Given the description of an element on the screen output the (x, y) to click on. 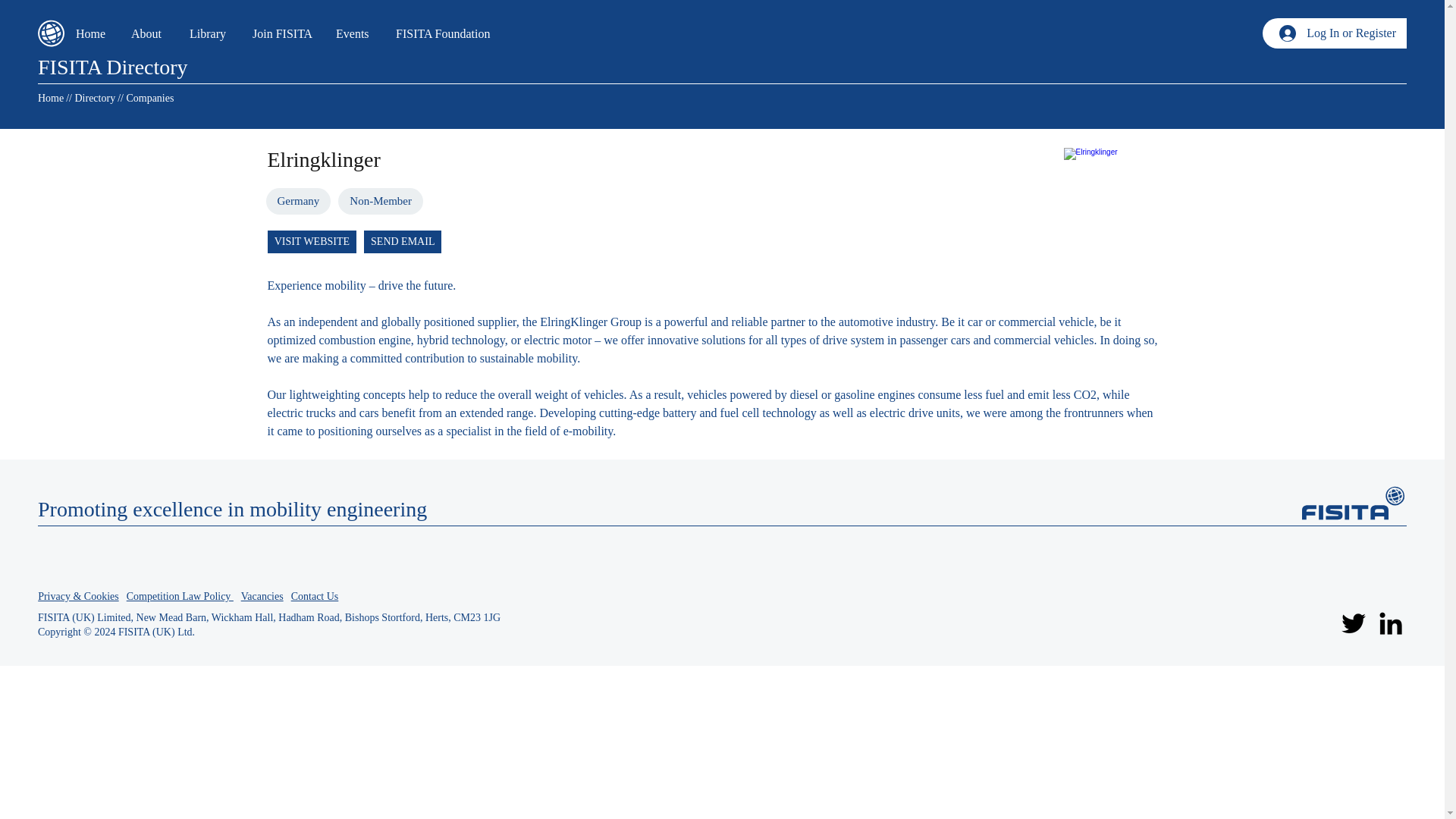
Events (354, 33)
Join FISITA (282, 33)
SEND EMAIL (402, 241)
Home (50, 98)
Log In or Register (1337, 32)
Library (209, 33)
VISIT WEBSITE (311, 241)
FISITA Foundation (446, 33)
Home (91, 33)
About (148, 33)
